Given the description of an element on the screen output the (x, y) to click on. 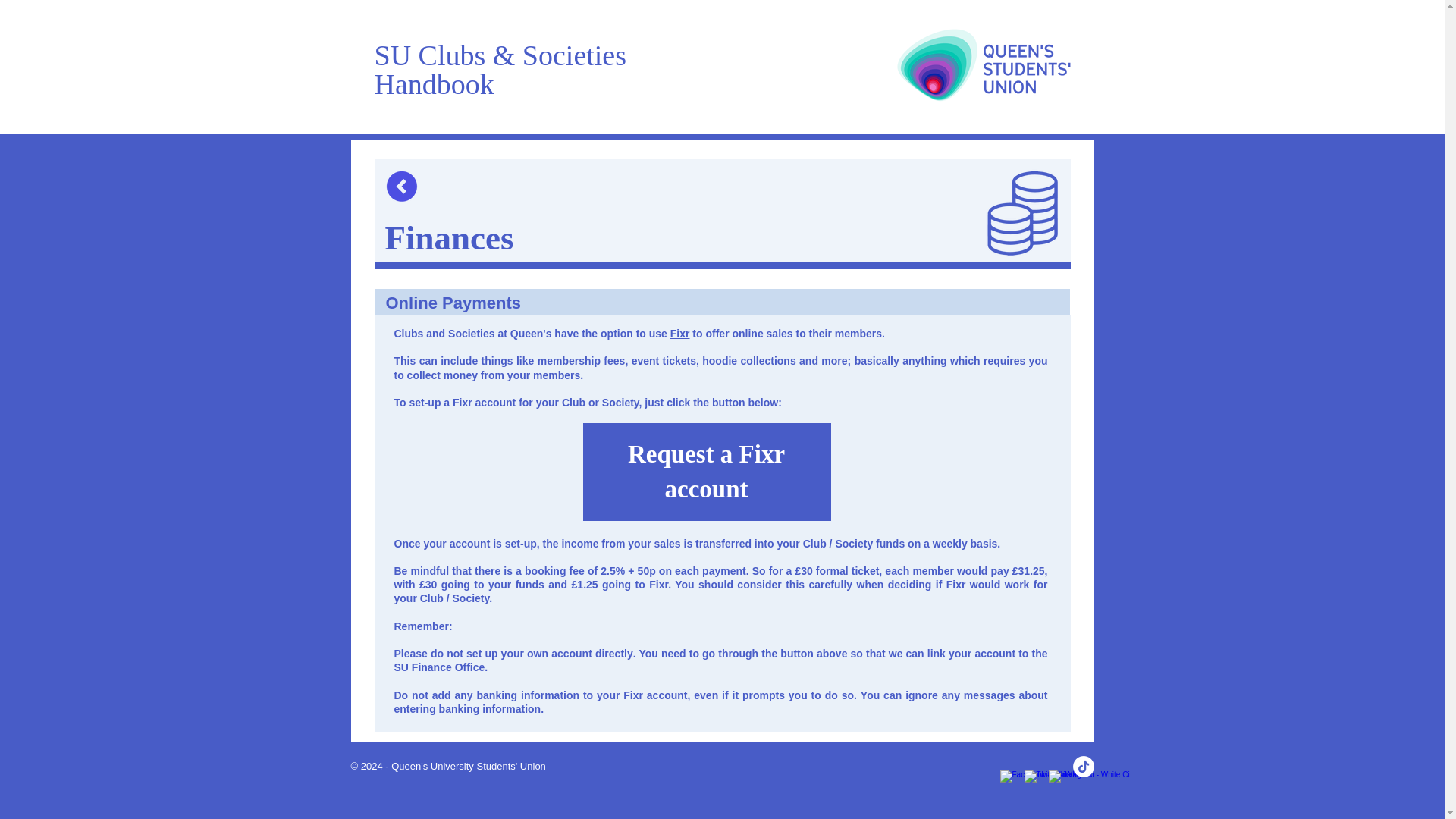
Fixr (679, 333)
Request a Fixr account (705, 470)
